Given the description of an element on the screen output the (x, y) to click on. 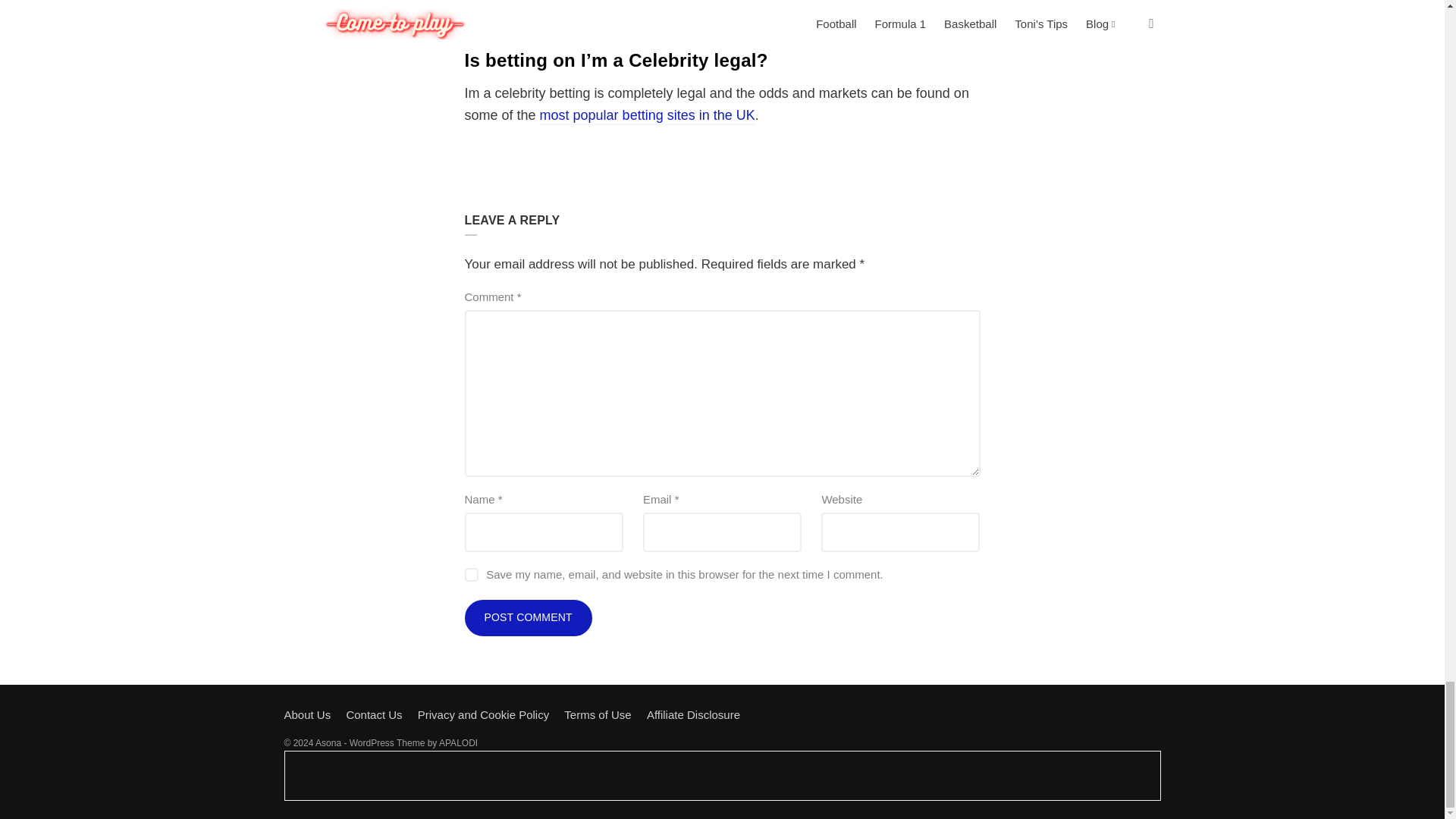
yes (470, 574)
Privacy and Cookie Policy (482, 714)
Contact Us (373, 714)
Post Comment (527, 617)
Terms of Use (597, 714)
About Us (306, 714)
Post Comment (527, 617)
Affiliate Disclosure (692, 714)
most popular betting sites in the UK (647, 116)
